Given the description of an element on the screen output the (x, y) to click on. 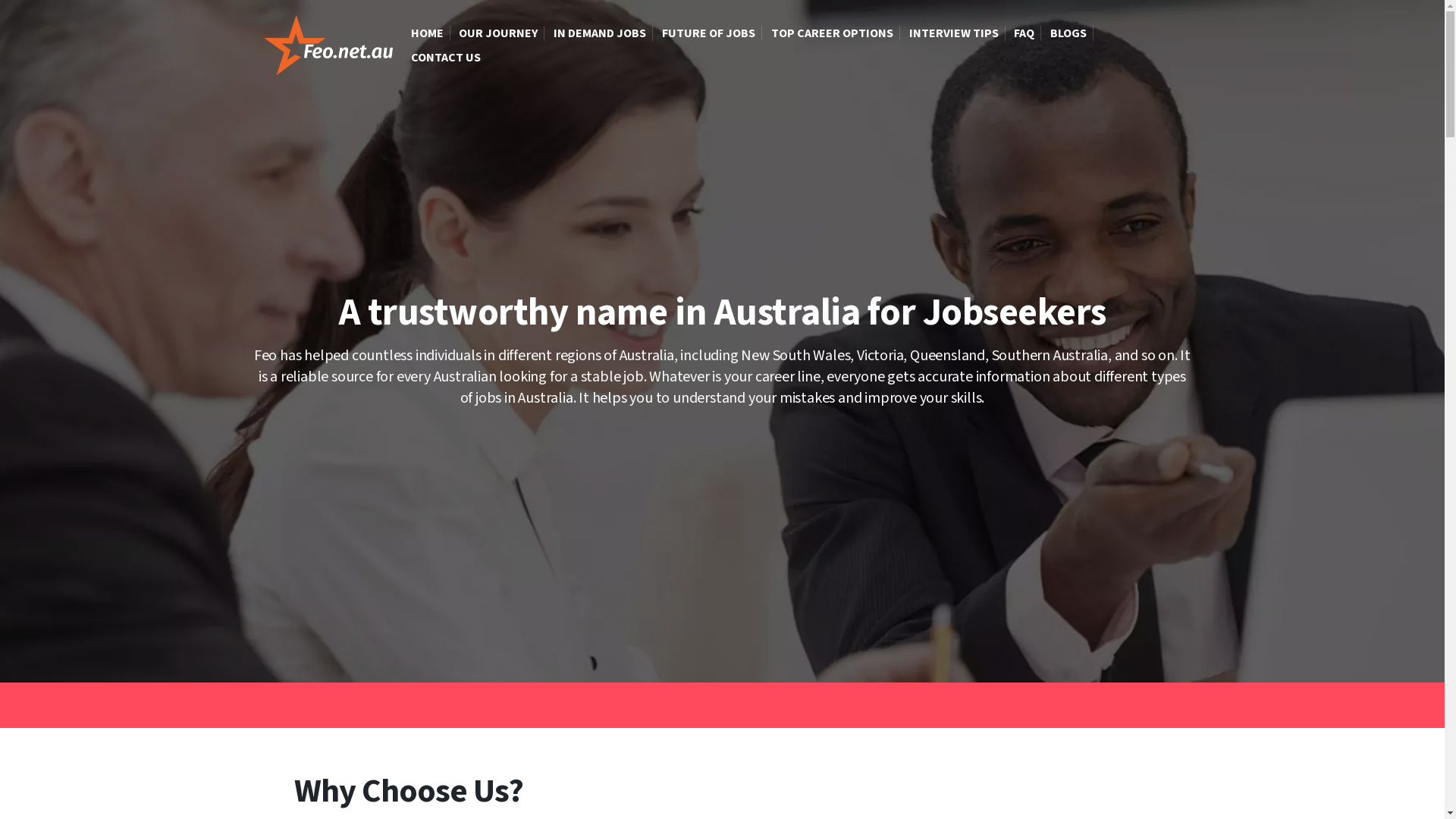
BLOGS Element type: text (1068, 33)
OUR JOURNEY Element type: text (497, 33)
CONTACT US Element type: text (441, 57)
INTERVIEW TIPS Element type: text (953, 33)
HOME Element type: text (426, 33)
IN DEMAND JOBS Element type: text (599, 33)
FAQ Element type: text (1024, 33)
FUTURE OF JOBS Element type: text (708, 33)
TOP CAREER OPTIONS Element type: text (832, 33)
